Given the description of an element on the screen output the (x, y) to click on. 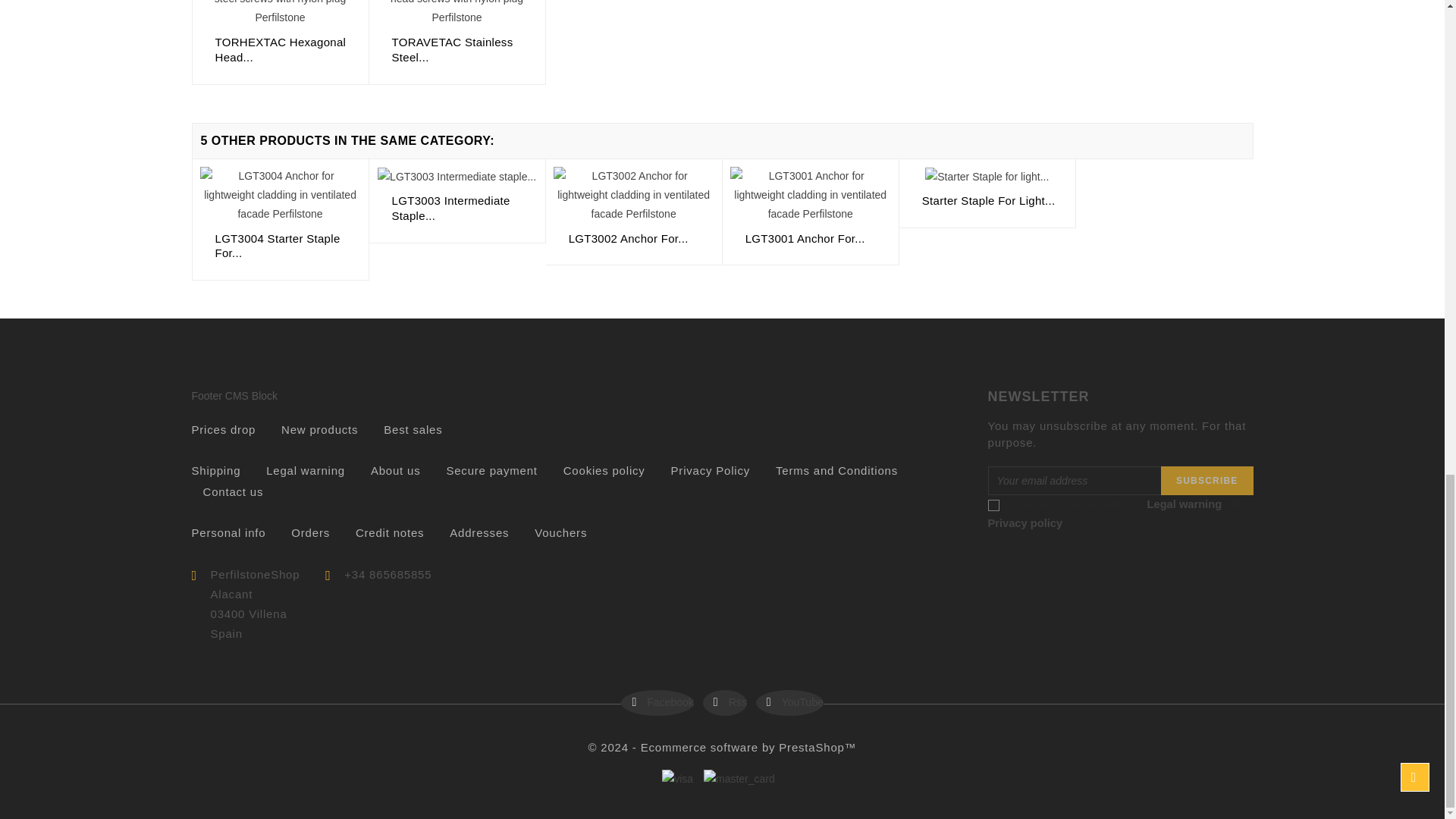
Orders (310, 532)
Privacy Policy (711, 470)
Addresses (478, 532)
Cookies policy (604, 470)
Find out more about us (395, 470)
Subscribe (1206, 480)
Personal info (227, 532)
Legal warning (305, 470)
Vouchers (560, 532)
Use our form to contact us (233, 491)
Our shipping terms and conditions (215, 470)
Secure payment (491, 470)
Credit notes (389, 532)
Terms and Conditions (837, 470)
New products (319, 429)
